Given the description of an element on the screen output the (x, y) to click on. 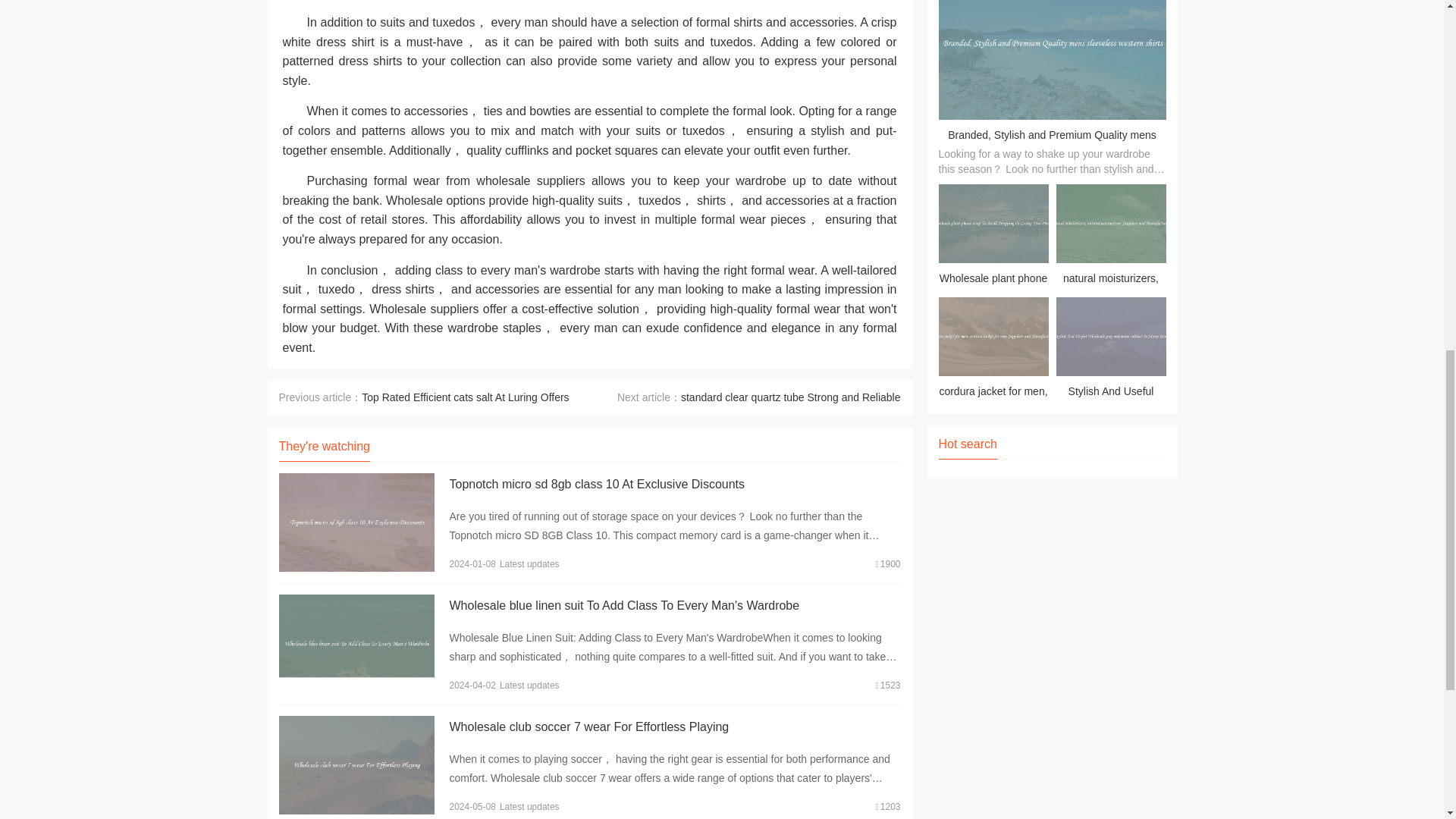
Topnotch micro sd 8gb class 10 At Exclusive Discounts (596, 483)
Top Rated Efficient cats salt At Luring Offers (465, 397)
Wholesale club soccer 7 wear For Effortless Playing (588, 726)
standard clear quartz tube Strong and Reliable (791, 397)
